Given the description of an element on the screen output the (x, y) to click on. 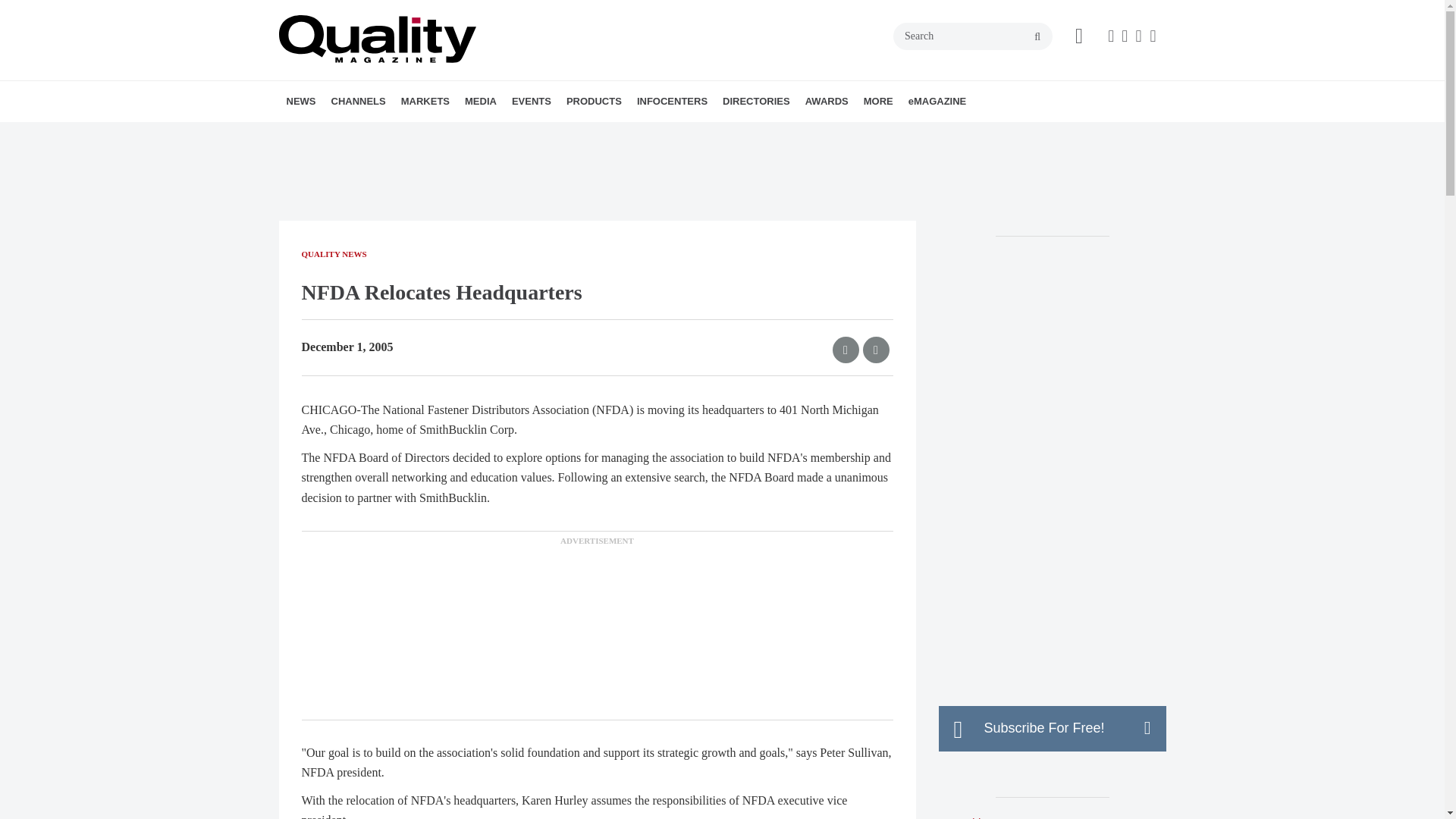
AUTOMATION (417, 134)
MEASUREMENT (430, 134)
MEDICAL (515, 134)
NEWS (301, 101)
SOFTWARE (445, 134)
PLASTICS (519, 134)
VIDEOS (570, 134)
WEBINARS (574, 134)
Search (972, 35)
EVENTS (531, 101)
